Given the description of an element on the screen output the (x, y) to click on. 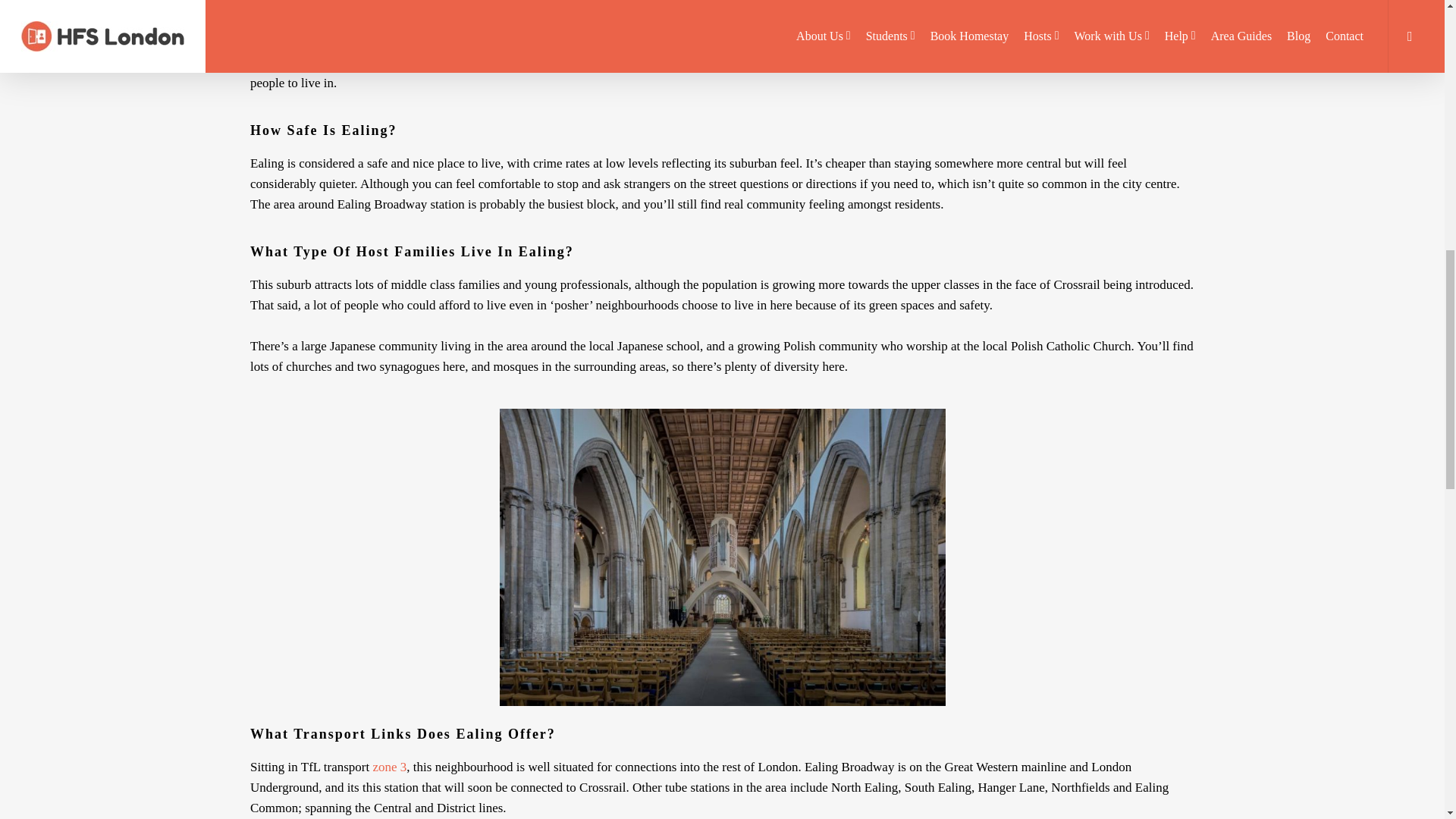
zone 3 (389, 766)
